Given the description of an element on the screen output the (x, y) to click on. 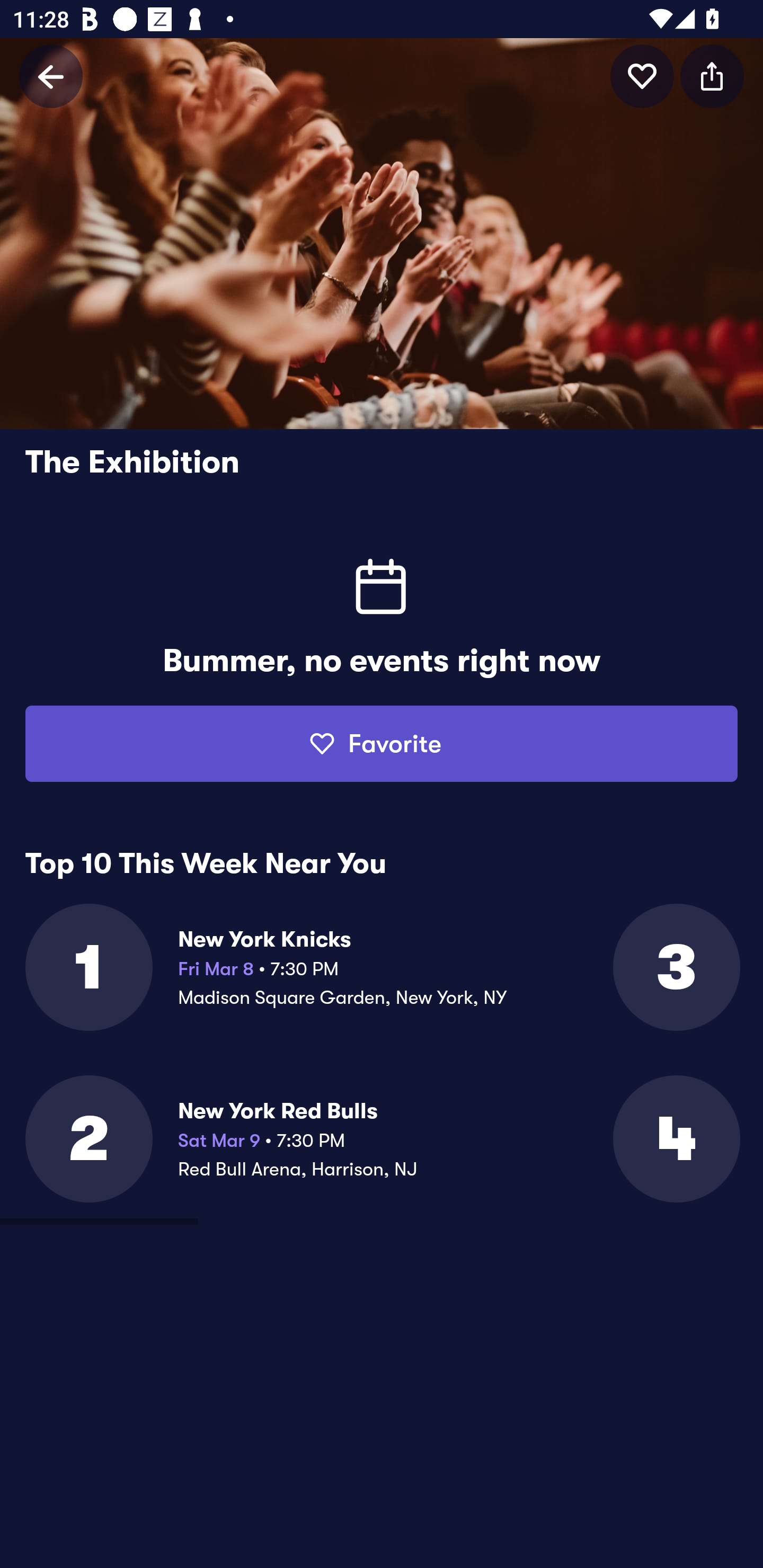
Back (50, 75)
icon button (641, 75)
icon button (711, 75)
Favorite (381, 743)
3 (675, 967)
4 (675, 1138)
